Given the description of an element on the screen output the (x, y) to click on. 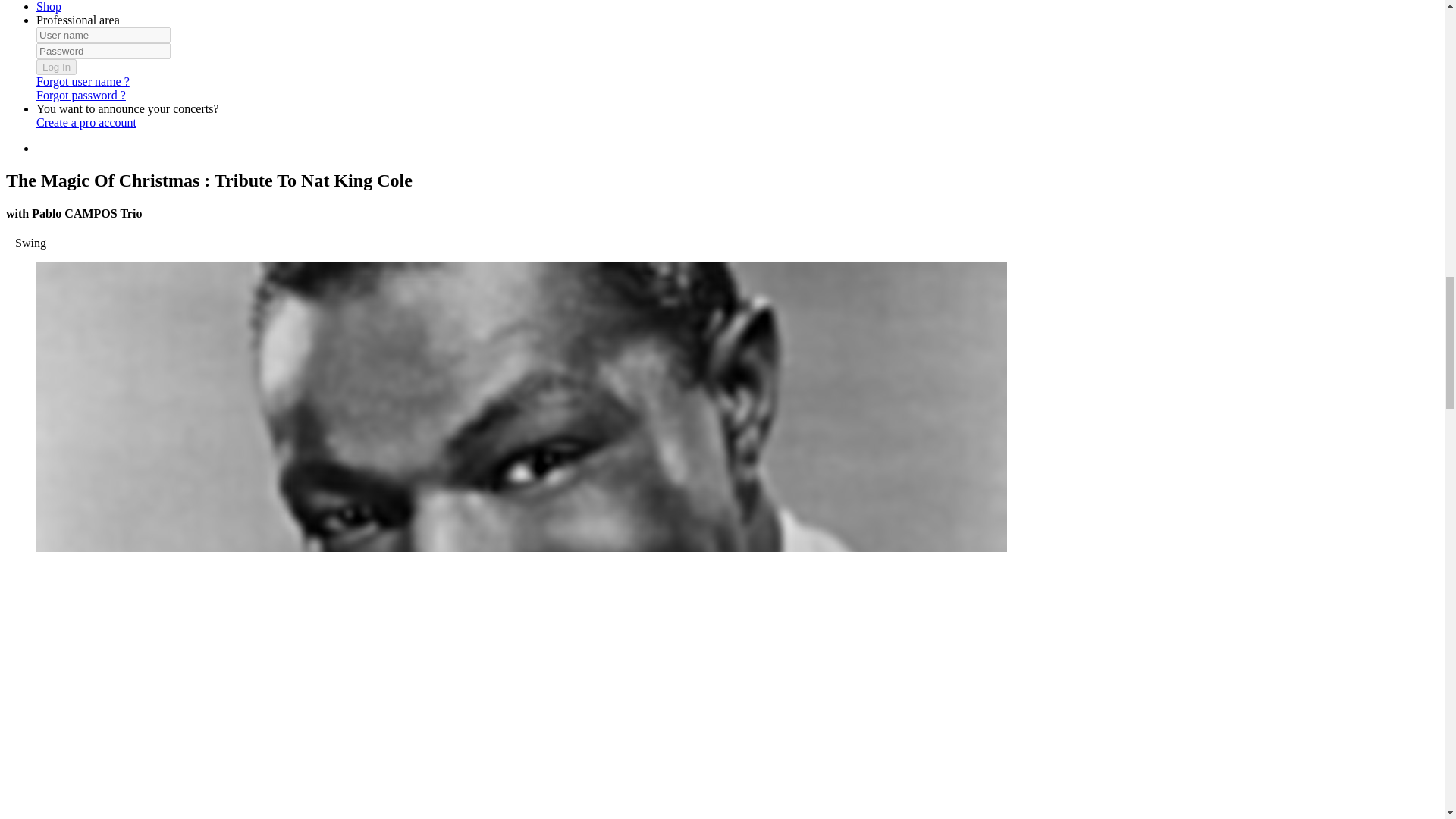
Forgot user name ? (82, 81)
Forgot password ? (80, 94)
Shop (48, 6)
Create a pro account (86, 122)
Log In (56, 66)
